Given the description of an element on the screen output the (x, y) to click on. 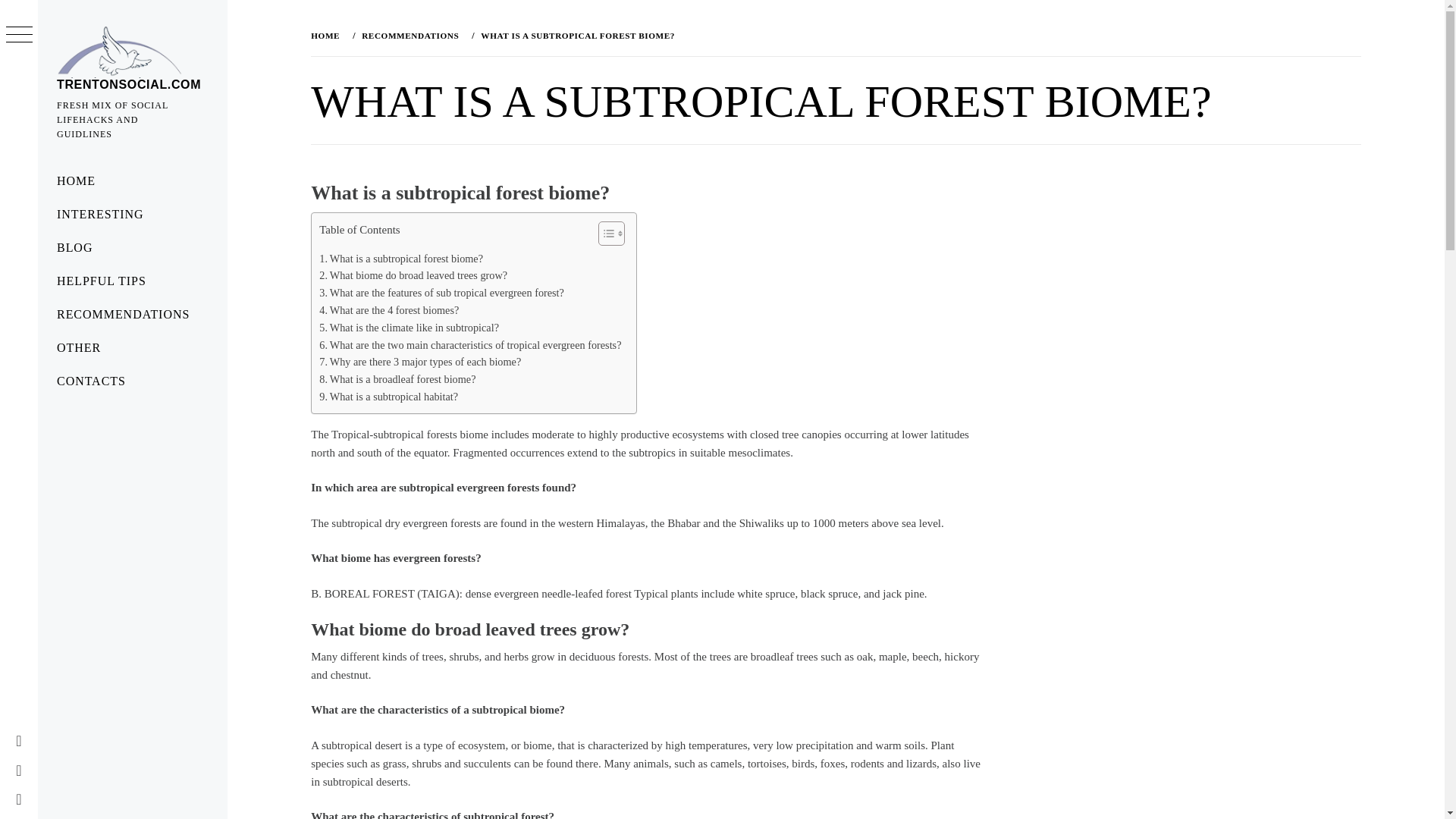
INTERESTING (132, 214)
What are the 4 forest biomes? (388, 310)
Why are there 3 major types of each biome? (419, 361)
RECOMMENDATIONS (408, 35)
What is the climate like in subtropical? (408, 327)
HELPFUL TIPS (132, 281)
HOME (132, 181)
WHAT IS A SUBTROPICAL FOREST BIOME? (575, 35)
